Given the description of an element on the screen output the (x, y) to click on. 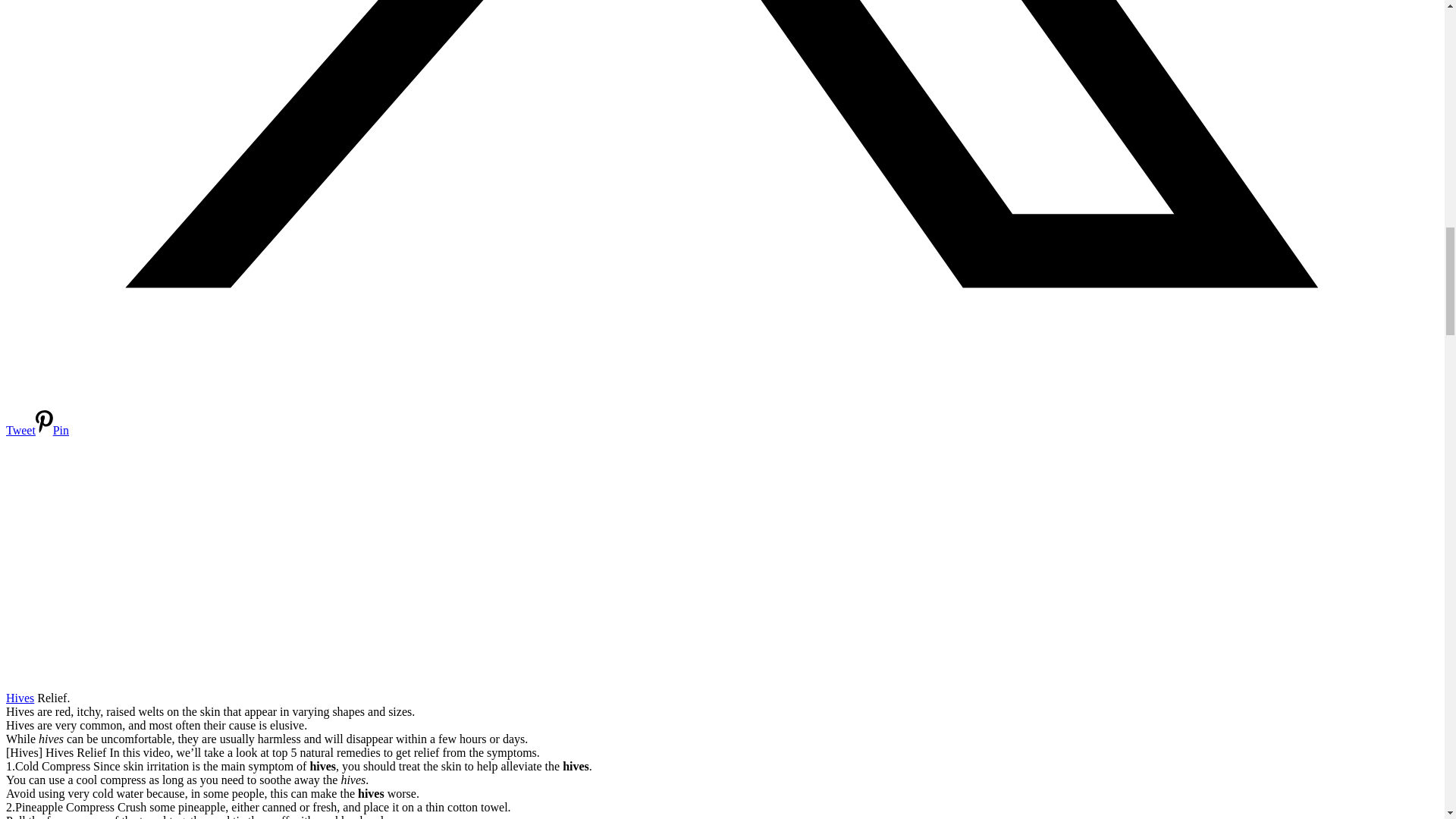
Hives (19, 697)
Pin (51, 430)
Share on Pinterest (51, 430)
